Given the description of an element on the screen output the (x, y) to click on. 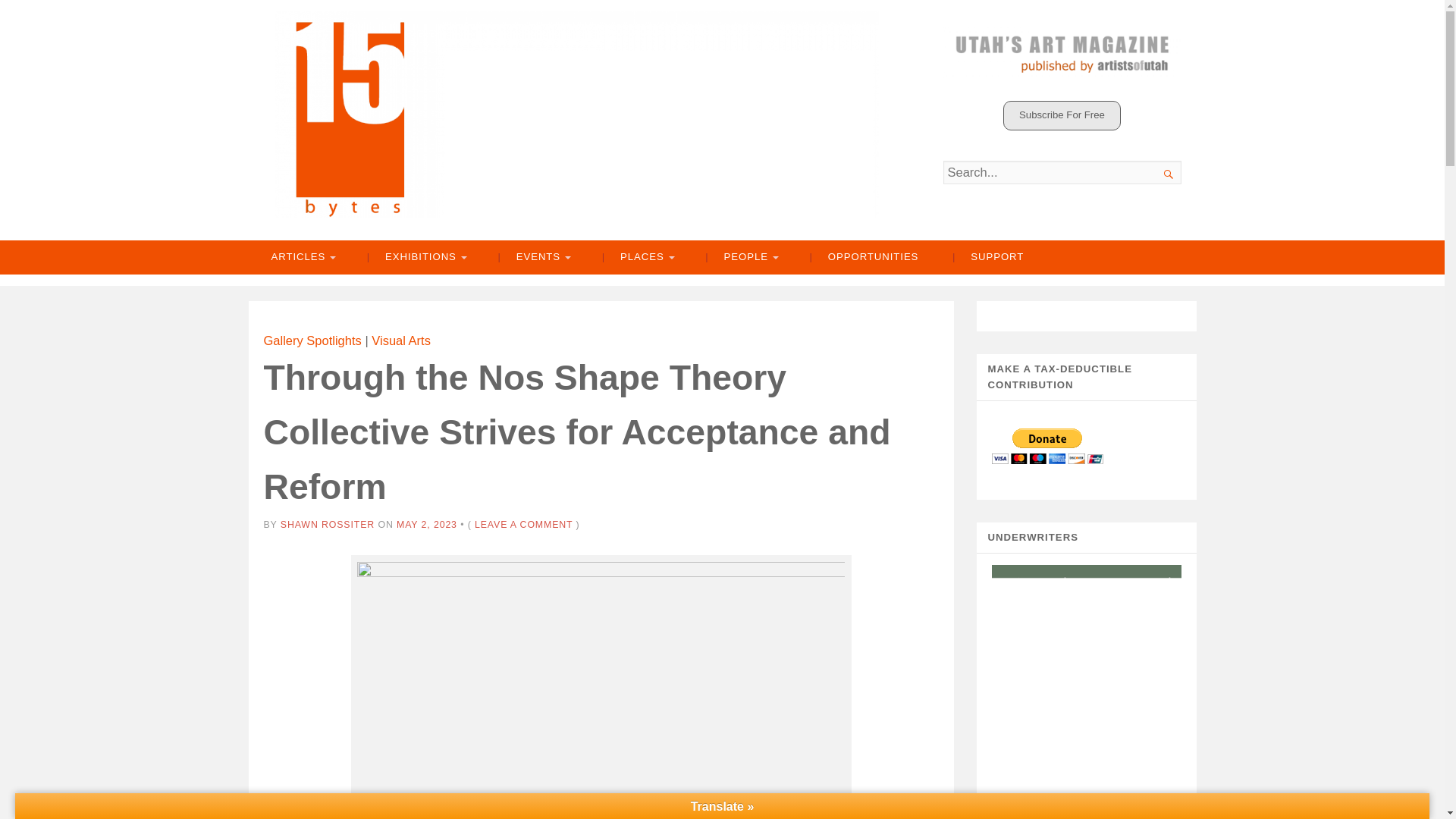
PLACES (636, 257)
LEAVE A COMMENT (523, 524)
SUPPORT (988, 257)
ARTICLES (302, 257)
View all posts by Shawn Rossiter (327, 524)
Artists of Utah's 15 Bytes (576, 114)
EVENTS (532, 257)
PEOPLE (740, 257)
SHAWN ROSSITER (327, 524)
1:58 pm (426, 524)
OPPORTUNITIES (864, 257)
Subscribe For Free (1062, 114)
MAY 2, 2023 (426, 524)
Gallery Spotlights (312, 340)
Visual Arts (400, 340)
